Given the description of an element on the screen output the (x, y) to click on. 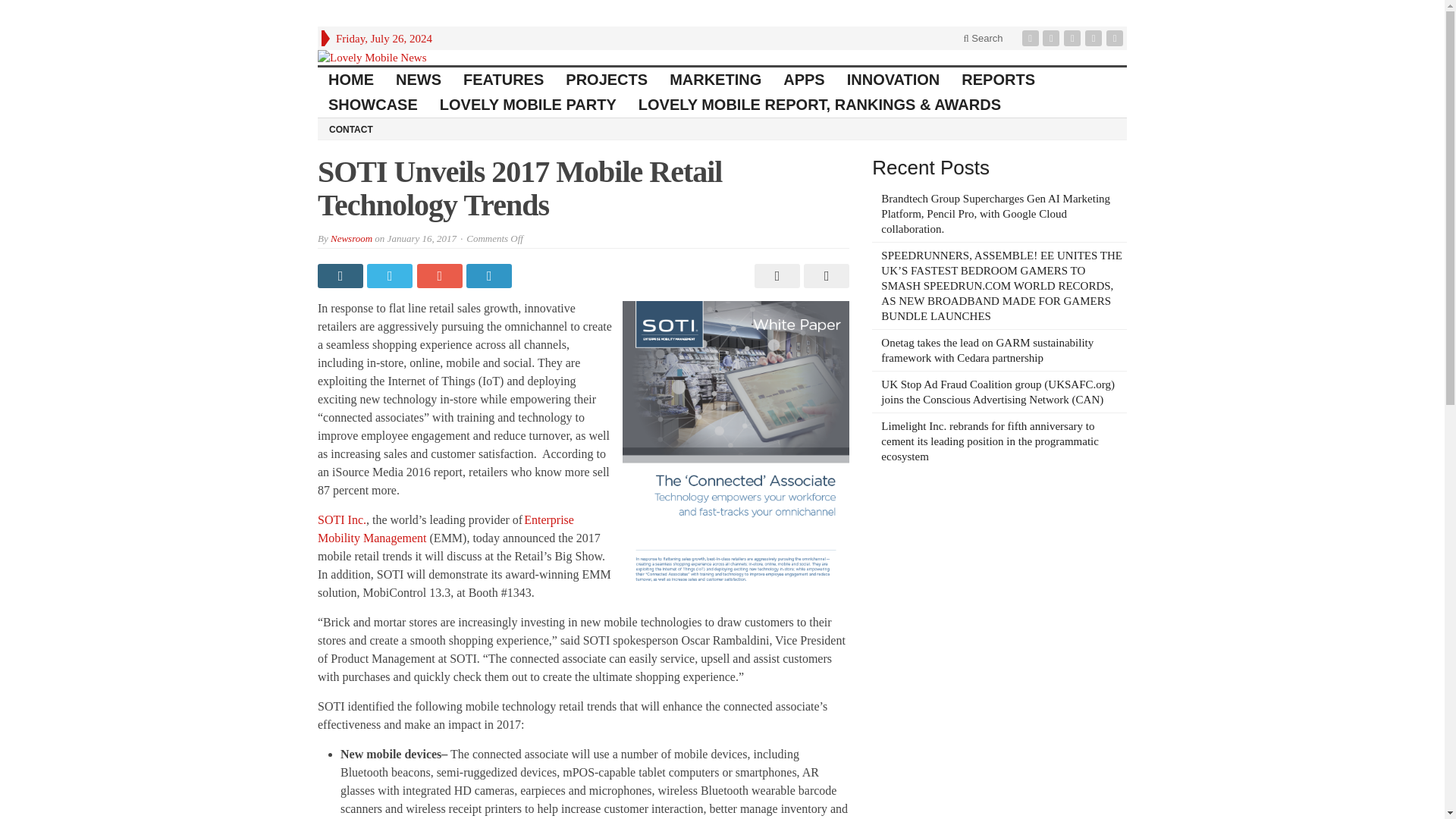
Lovely Mobile News (721, 57)
Share on Facebook (341, 275)
Share on Twitter (391, 275)
Facebook (1032, 37)
LOVELY MOBILE PARTY (528, 104)
Twitter (1052, 37)
Print This Post (775, 275)
Share on LinkedIn (490, 275)
MARKETING (716, 79)
LinkedIn (1073, 37)
REPORTS (998, 79)
SHOWCASE (373, 104)
Send by Email (823, 275)
NEWS (418, 79)
FEATURES (503, 79)
